Given the description of an element on the screen output the (x, y) to click on. 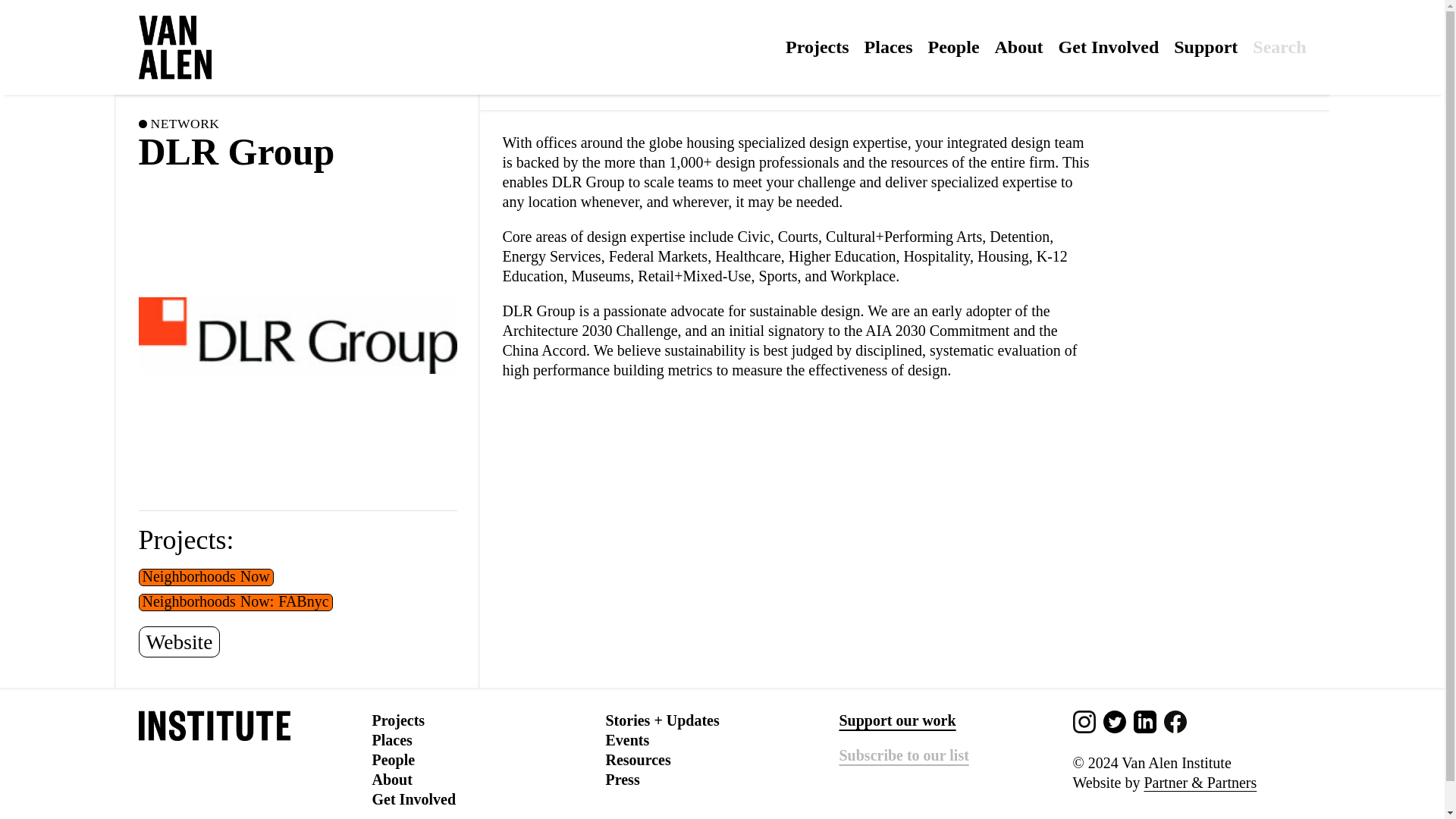
About (1018, 46)
Neighborhoods Now: FABnyc (234, 601)
Events (627, 740)
About (391, 779)
People (392, 759)
Press (622, 779)
Support (1205, 46)
Projects (817, 46)
Projects (398, 719)
Website (178, 642)
People (953, 46)
Get Involved (1108, 46)
Resources (637, 759)
Places (888, 46)
NETWORK (184, 124)
